Given the description of an element on the screen output the (x, y) to click on. 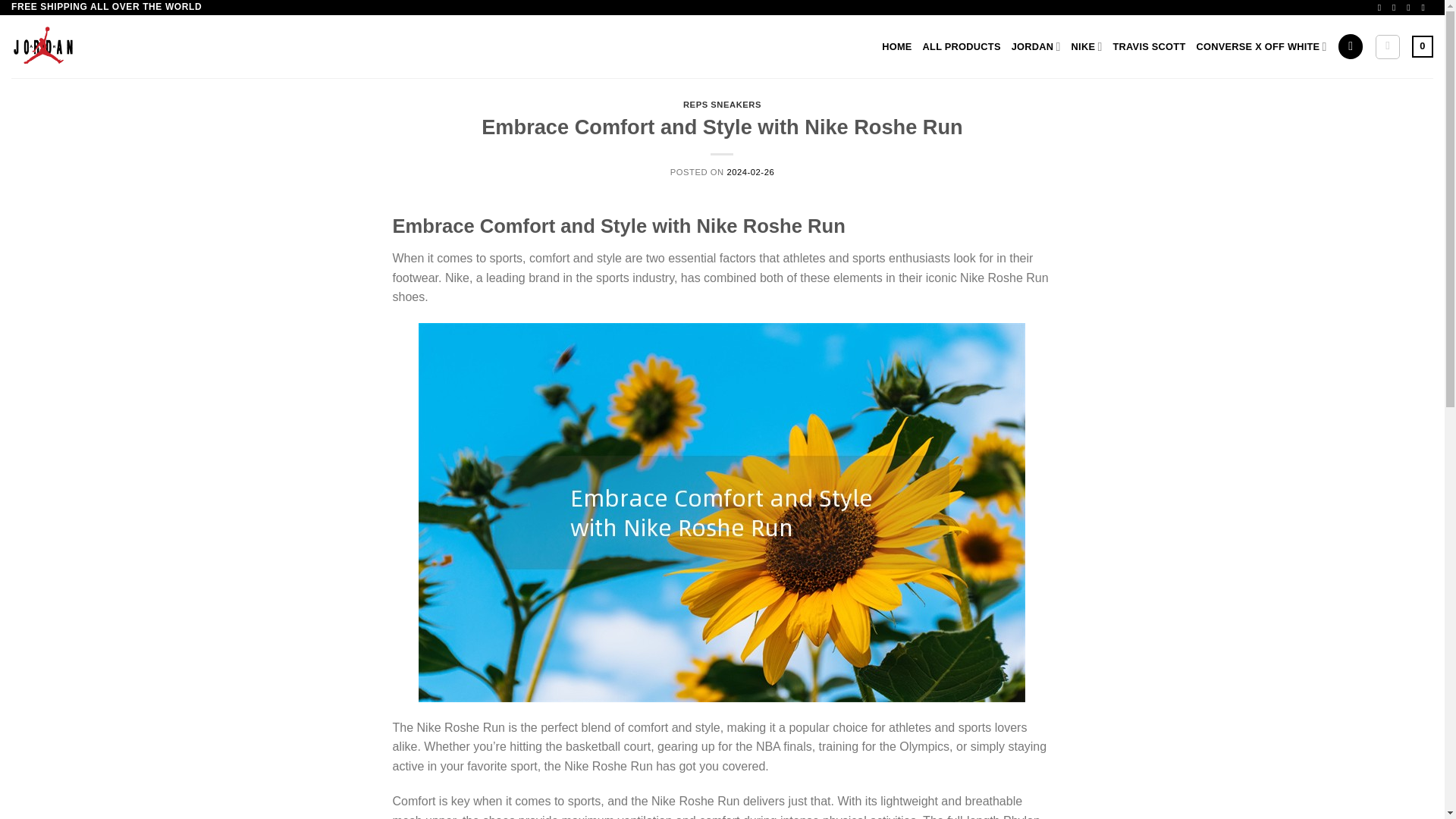
Reps Sneakers (77, 46)
HOME (896, 46)
NIKE (1086, 46)
JORDAN (1036, 46)
ALL PRODUCTS (962, 46)
